Given the description of an element on the screen output the (x, y) to click on. 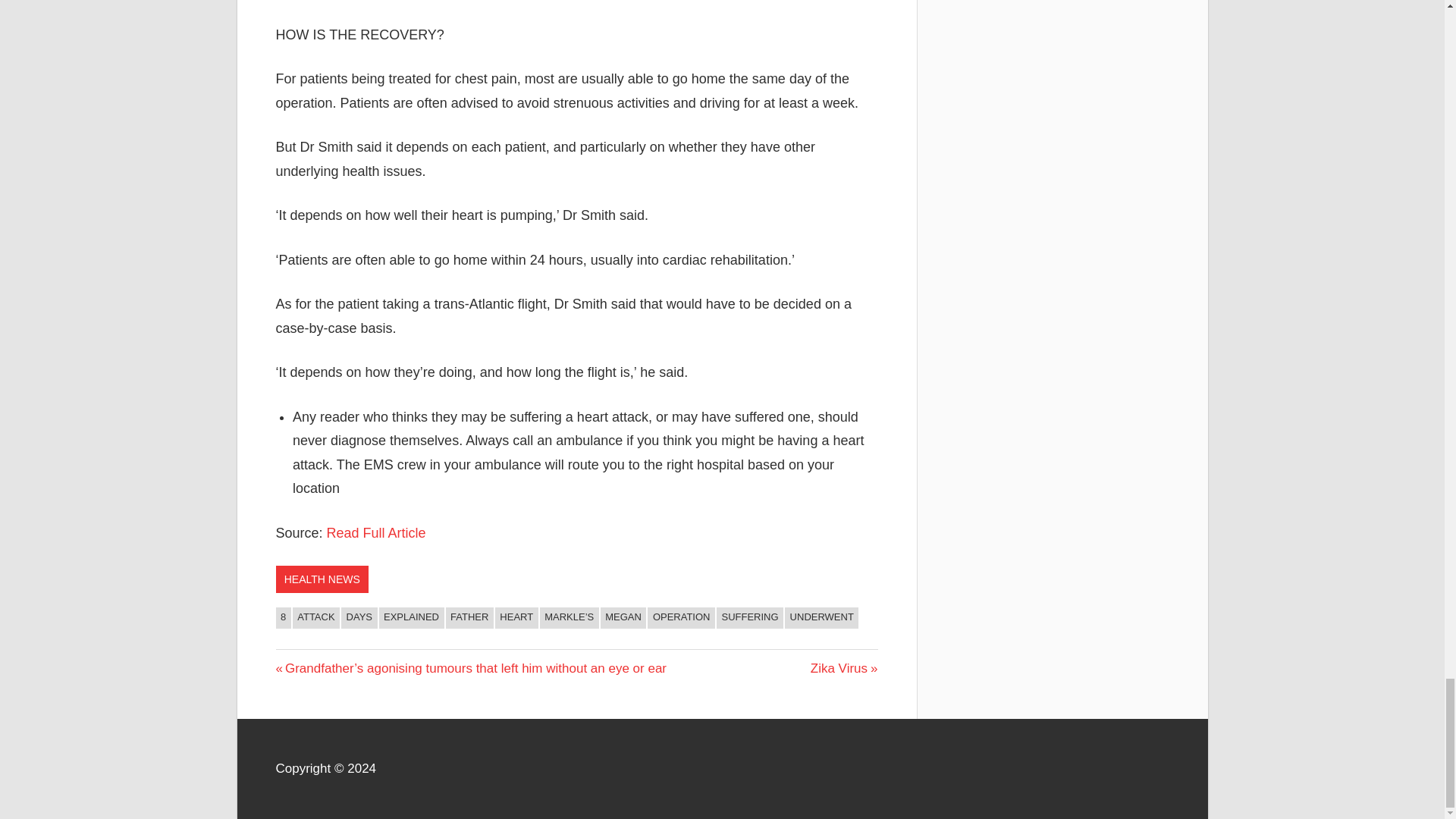
UNDERWENT (821, 617)
DAYS (358, 617)
HEALTH NEWS (322, 578)
FATHER (469, 617)
SUFFERING (749, 617)
ATTACK (315, 617)
OPERATION (680, 617)
MEGAN (622, 617)
HEART (516, 617)
Read Full Article (376, 532)
8 (283, 617)
EXPLAINED (411, 617)
